Given the description of an element on the screen output the (x, y) to click on. 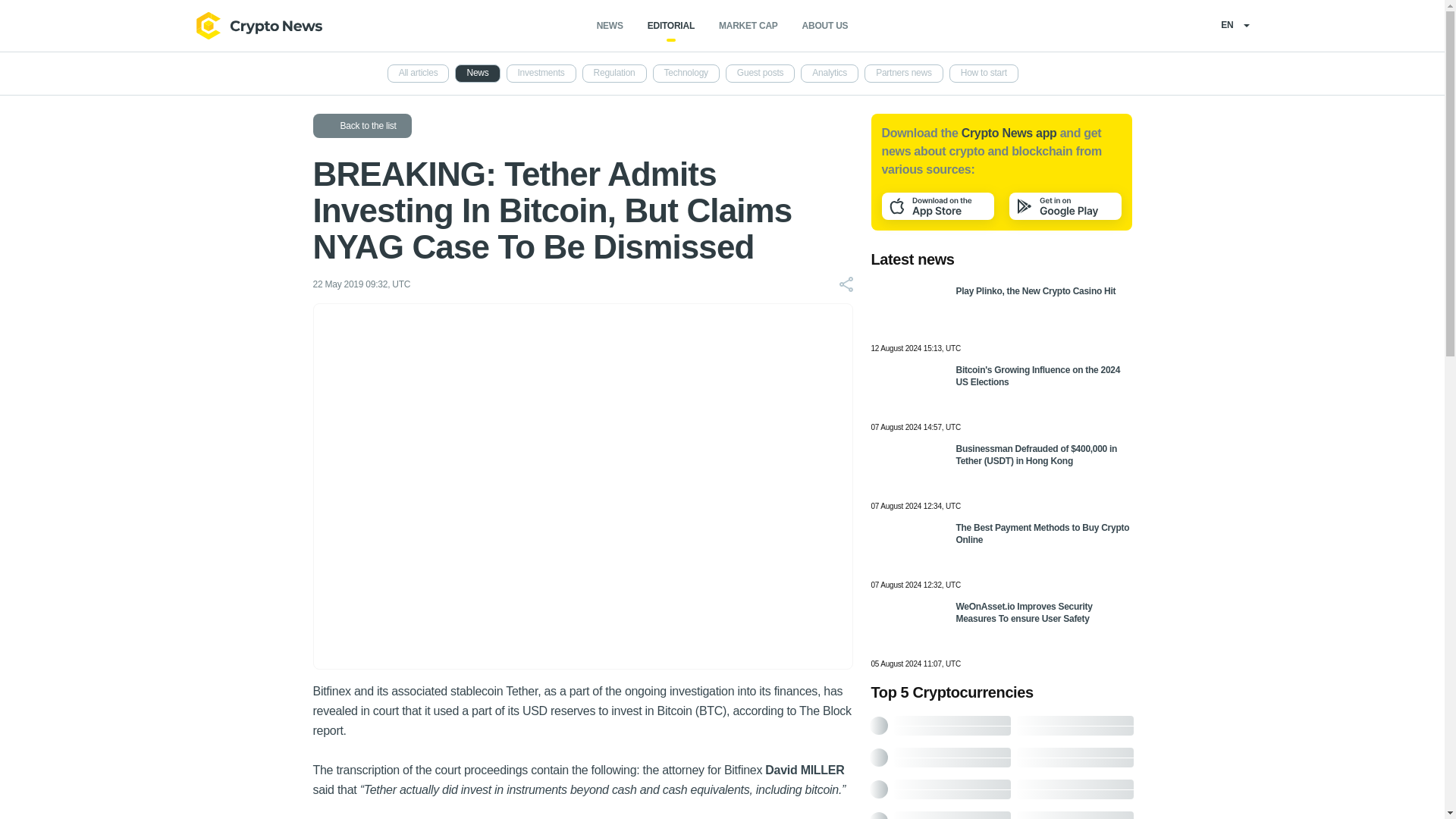
News (476, 73)
EDITORIAL (670, 25)
Guest posts (759, 73)
ABOUT US (825, 25)
All articles (418, 73)
MARKET CAP (748, 25)
NEWS (609, 25)
Back to the list (361, 125)
Partners news (903, 73)
Regulation (614, 73)
